Given the description of an element on the screen output the (x, y) to click on. 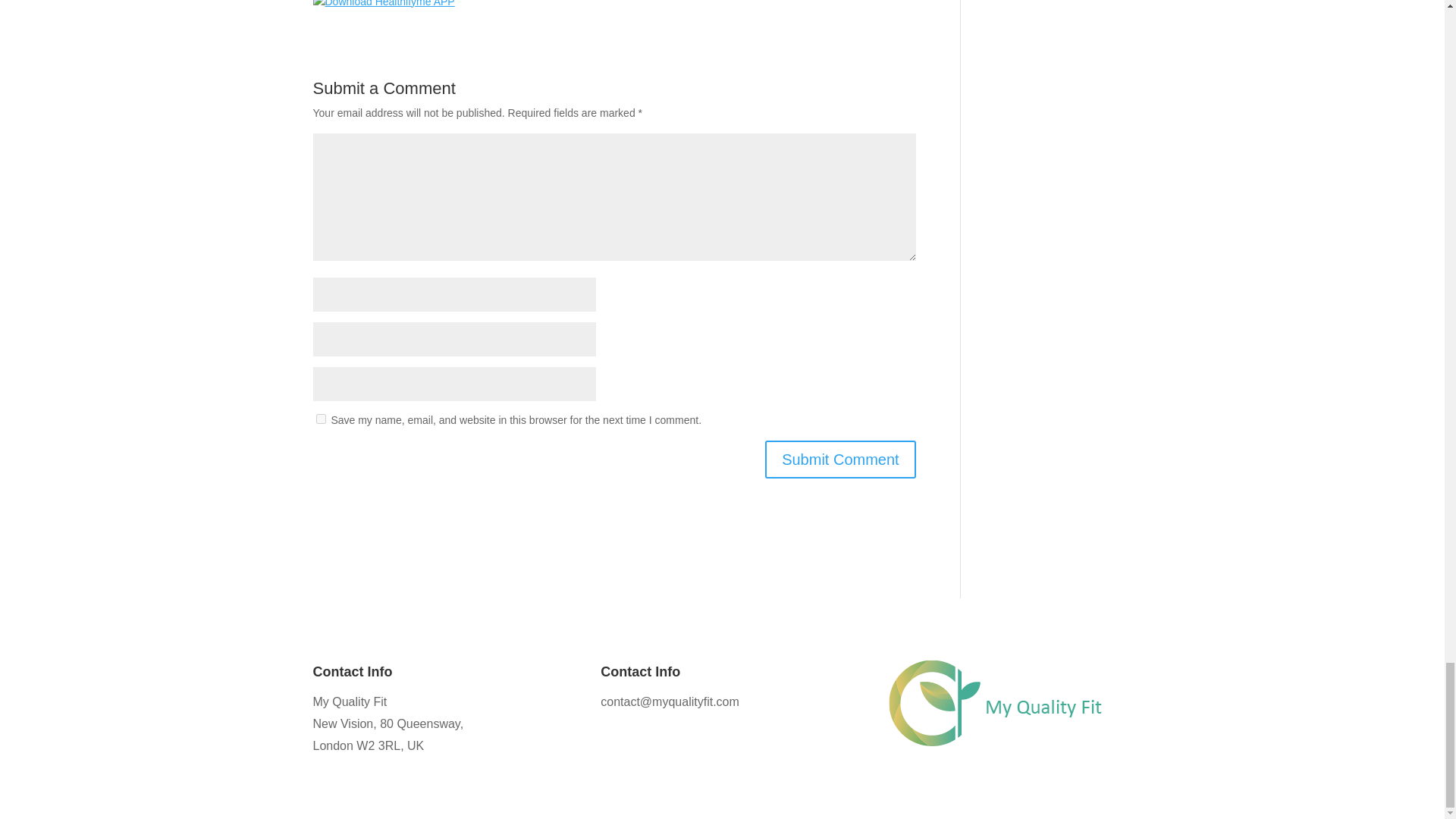
Submit Comment (840, 459)
yes (319, 419)
Submit Comment (840, 459)
